Given the description of an element on the screen output the (x, y) to click on. 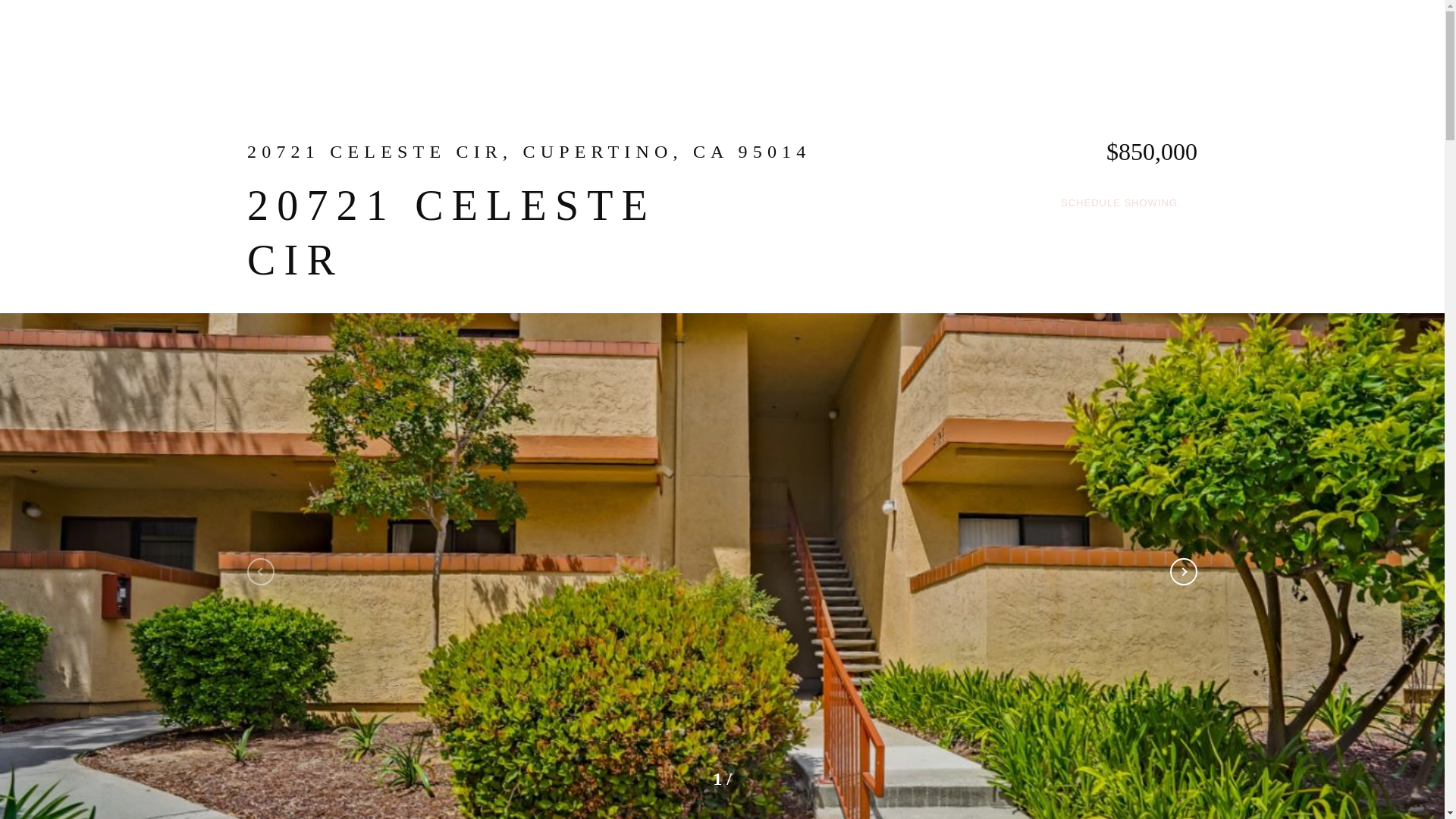
CONCIERGE (955, 40)
CONTACT (1046, 40)
MENU (1169, 40)
ABOUT (769, 40)
PROPERTIES (856, 40)
